Given the description of an element on the screen output the (x, y) to click on. 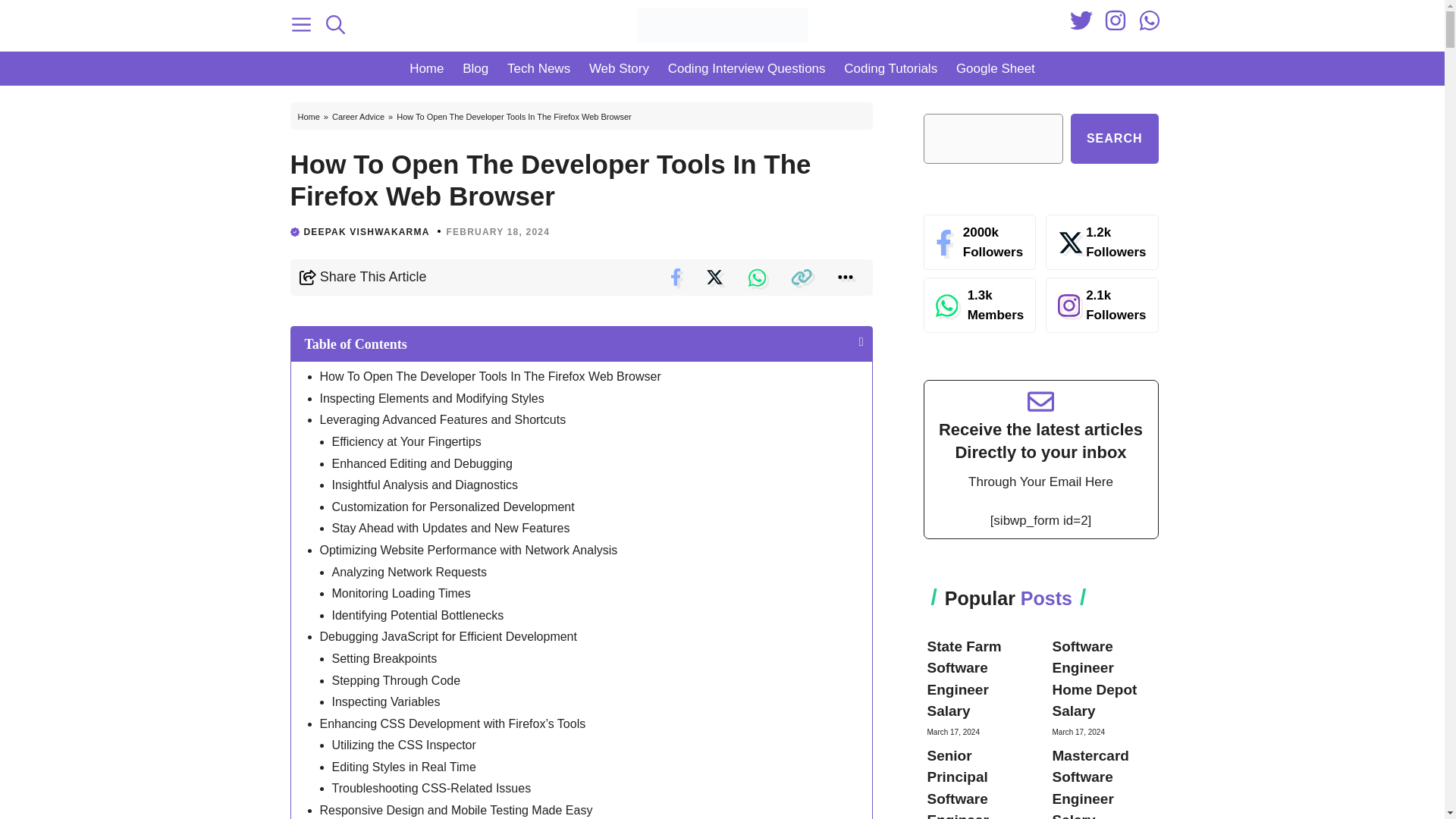
Coding Interview Pro (722, 24)
